Given the description of an element on the screen output the (x, y) to click on. 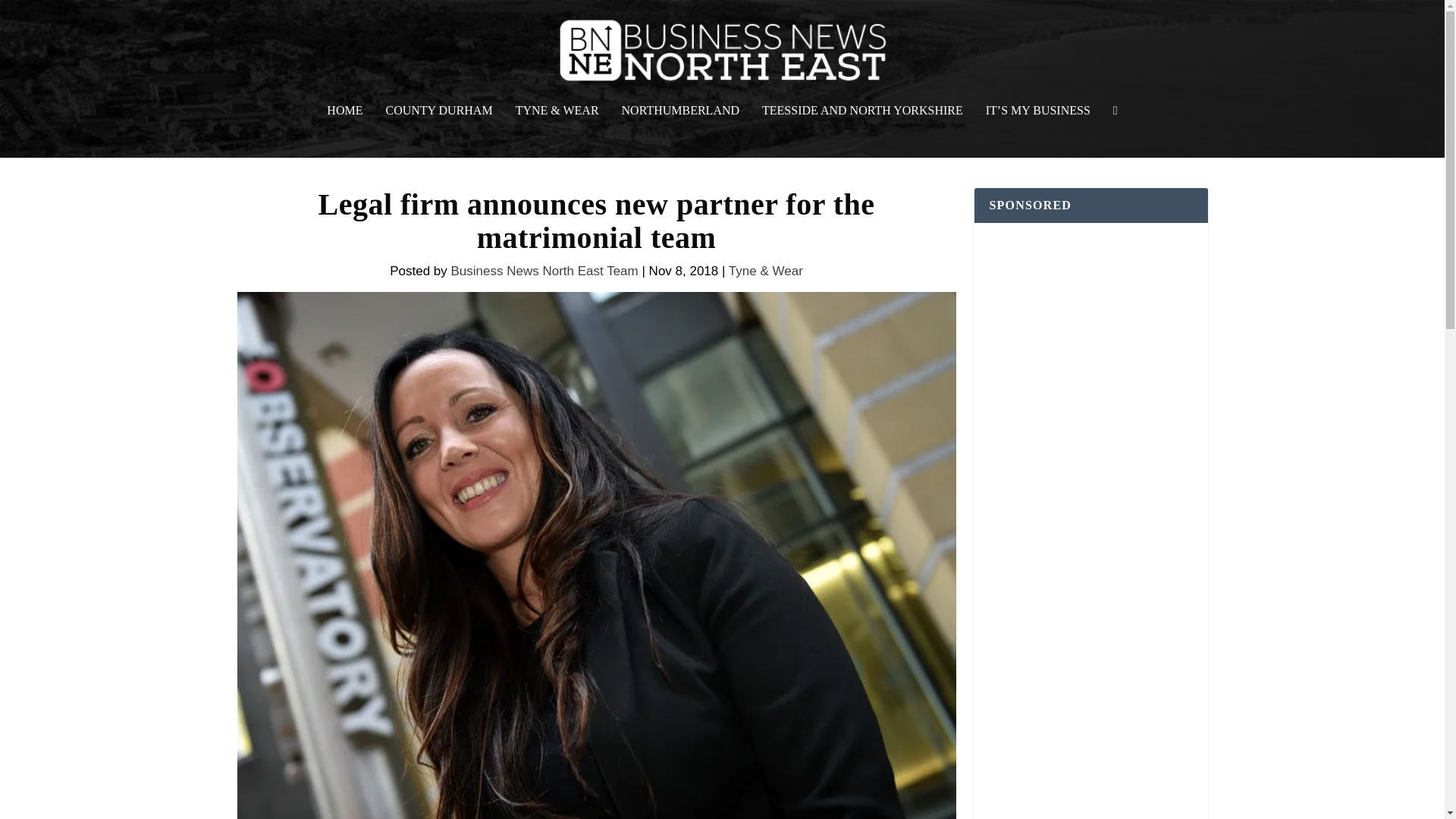
NORTHUMBERLAND (680, 131)
COUNTY DURHAM (438, 131)
Posts by Business News North East Team (543, 270)
Advertisement (1090, 784)
TEESSIDE AND NORTH YORKSHIRE (861, 131)
Business News North East Team (543, 270)
